Given the description of an element on the screen output the (x, y) to click on. 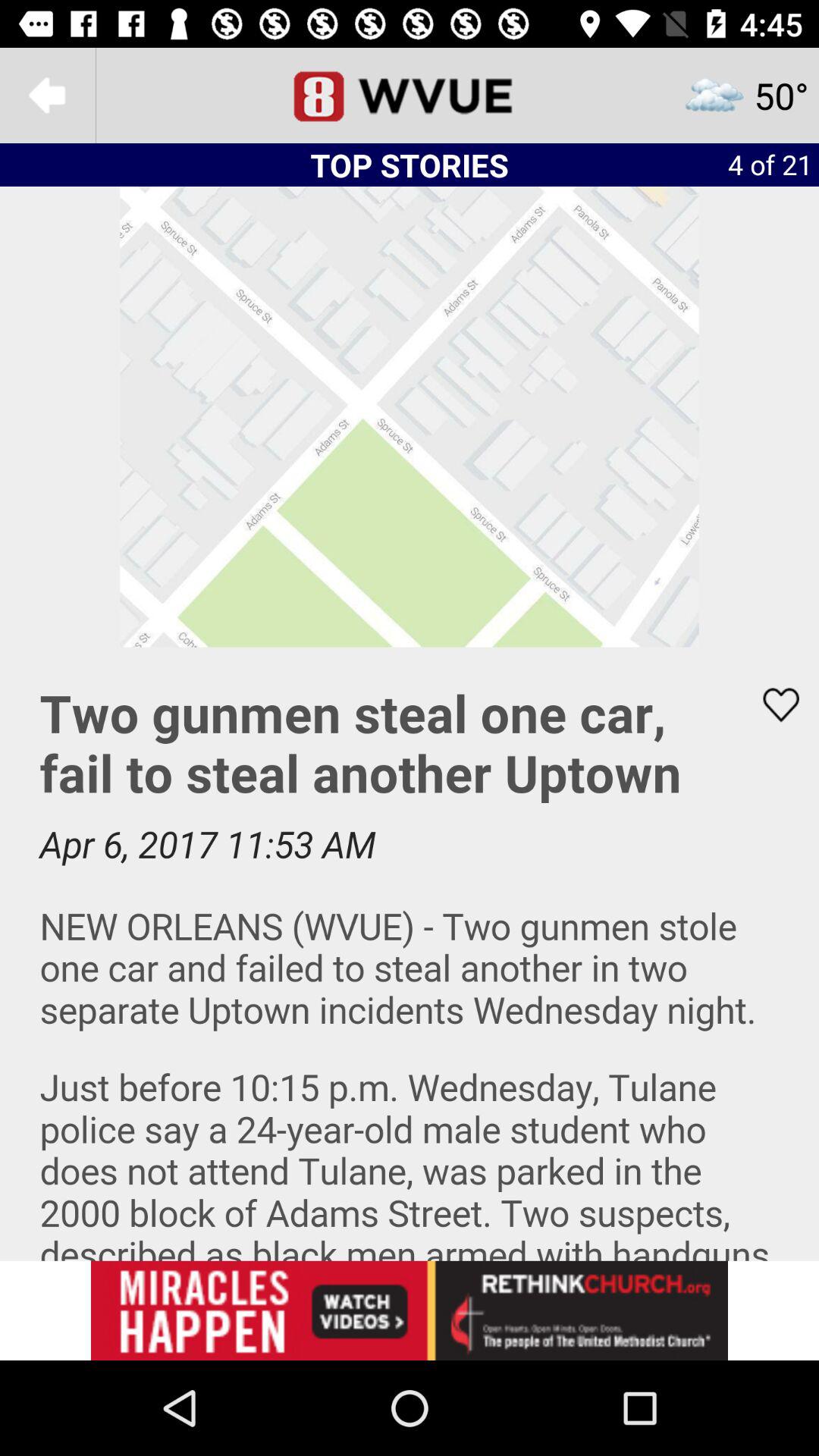
latest breaking news home page (409, 95)
